Given the description of an element on the screen output the (x, y) to click on. 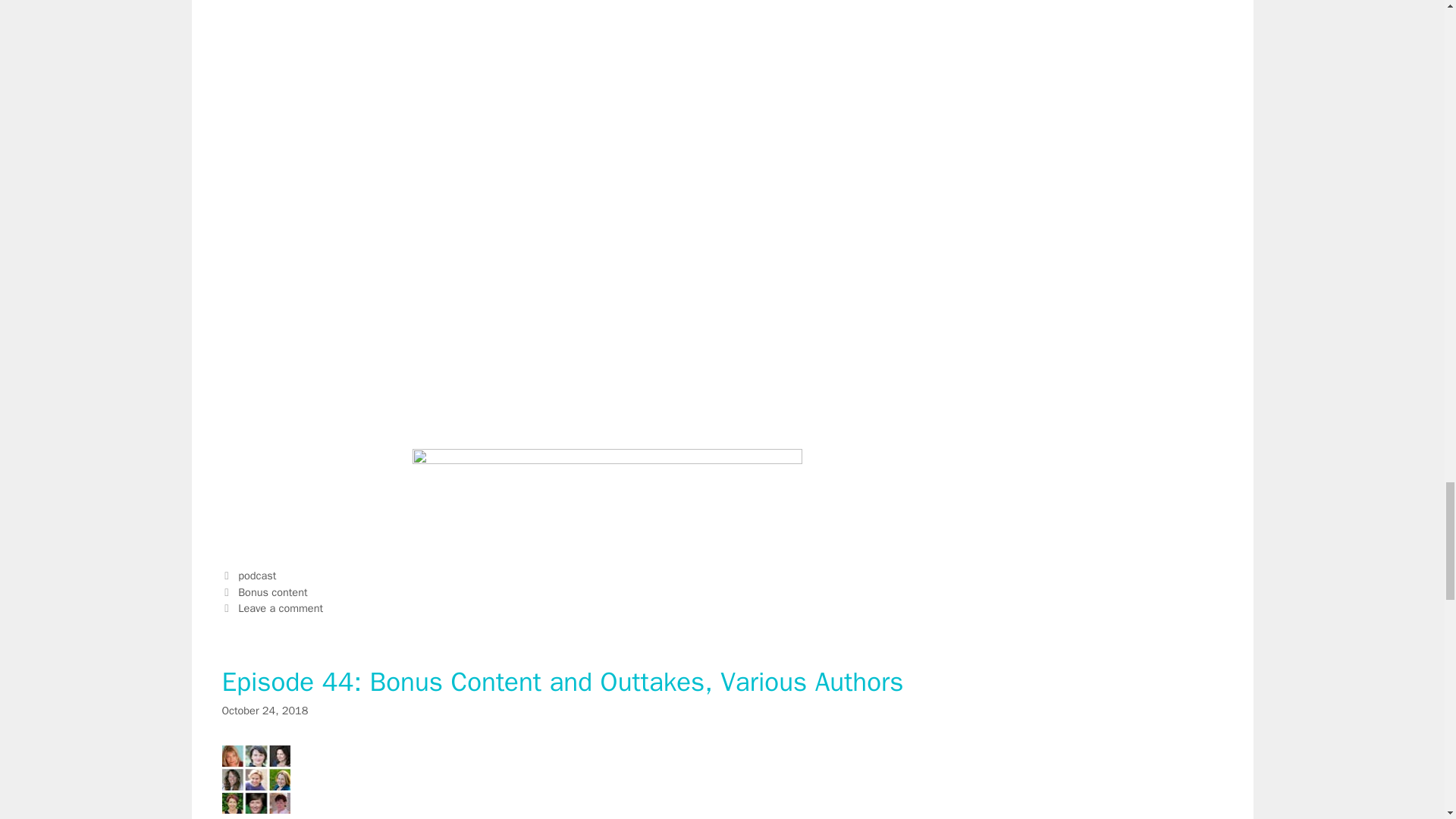
Bonus content (272, 591)
Leave a comment (280, 608)
podcast (257, 575)
